Given the description of an element on the screen output the (x, y) to click on. 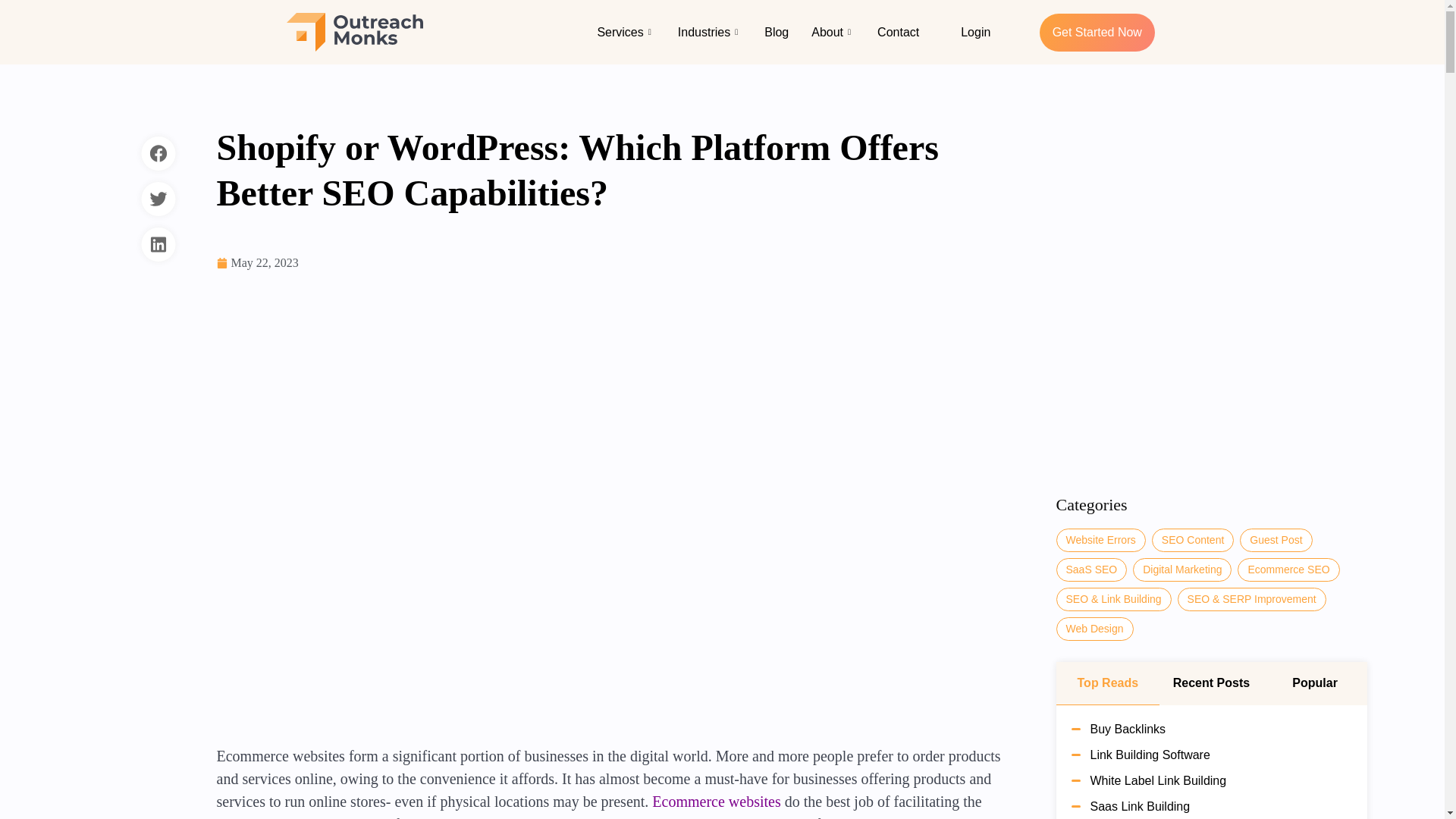
Contact (898, 32)
Industries (709, 32)
Get Started Now (1096, 32)
About (832, 32)
Services (625, 32)
Blog (775, 32)
Login (975, 32)
